Given the description of an element on the screen output the (x, y) to click on. 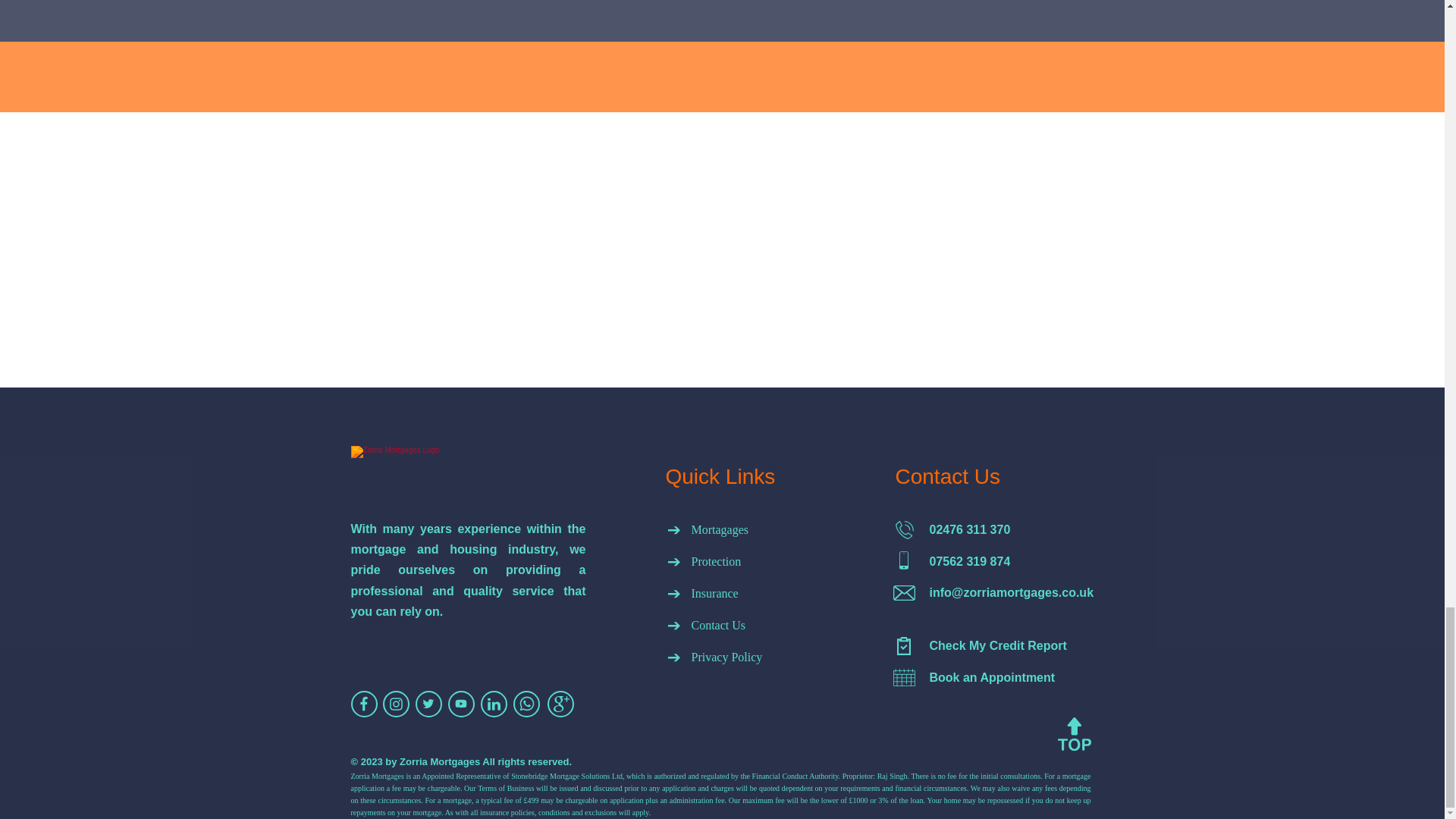
Contact Us (743, 625)
Logo.png (454, 476)
Mortagages (743, 529)
Privacy Policy (743, 657)
Insurance (743, 593)
Protection (743, 561)
